Given the description of an element on the screen output the (x, y) to click on. 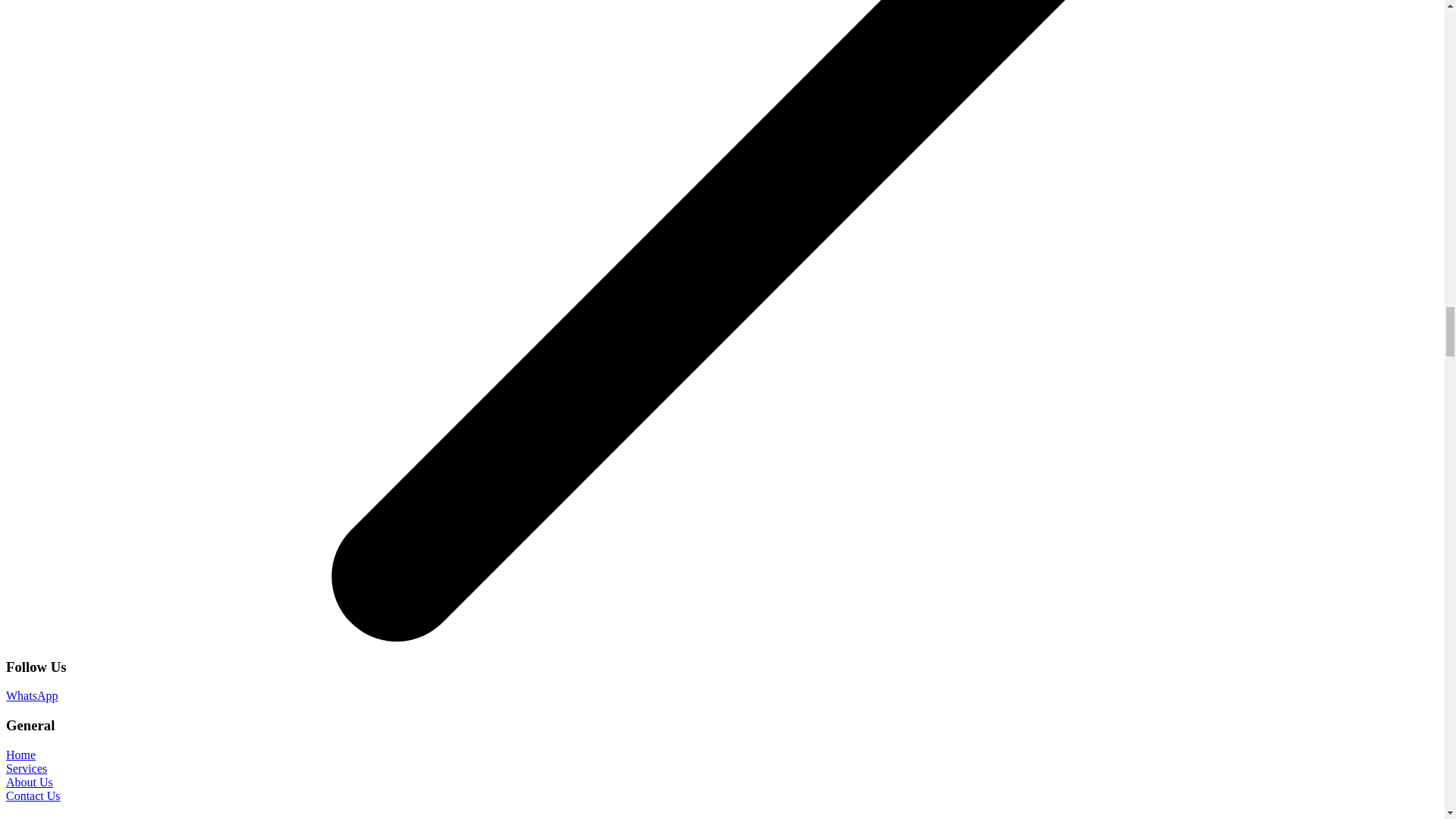
Services (25, 768)
About Us (28, 781)
Home (19, 754)
Contact Us (33, 795)
WhatsApp (31, 695)
